Given the description of an element on the screen output the (x, y) to click on. 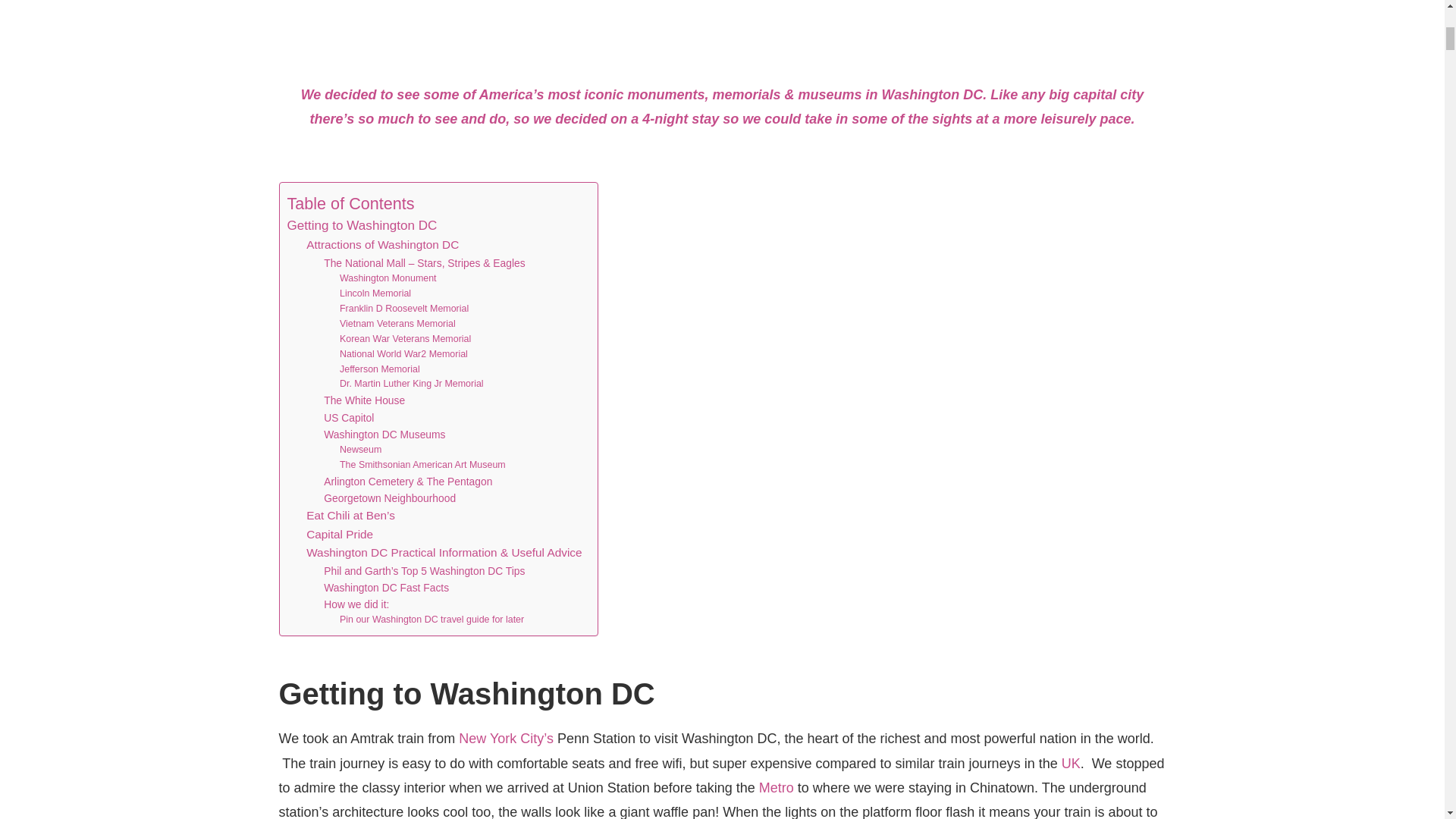
US Capitol (348, 417)
Washington DC Museums (384, 434)
The White House (363, 400)
Washington Monument (387, 278)
Attractions of Washington DC (381, 244)
Jefferson Memorial (379, 369)
Dr. Martin Luther King Jr Memorial (411, 384)
National World War2 Memorial (403, 354)
Korean War Veterans Memorial (404, 339)
Vietnam Veterans Memorial (397, 324)
Franklin D Roosevelt Memorial (403, 309)
Lincoln Memorial (374, 294)
Getting to Washington DC (361, 225)
